Given the description of an element on the screen output the (x, y) to click on. 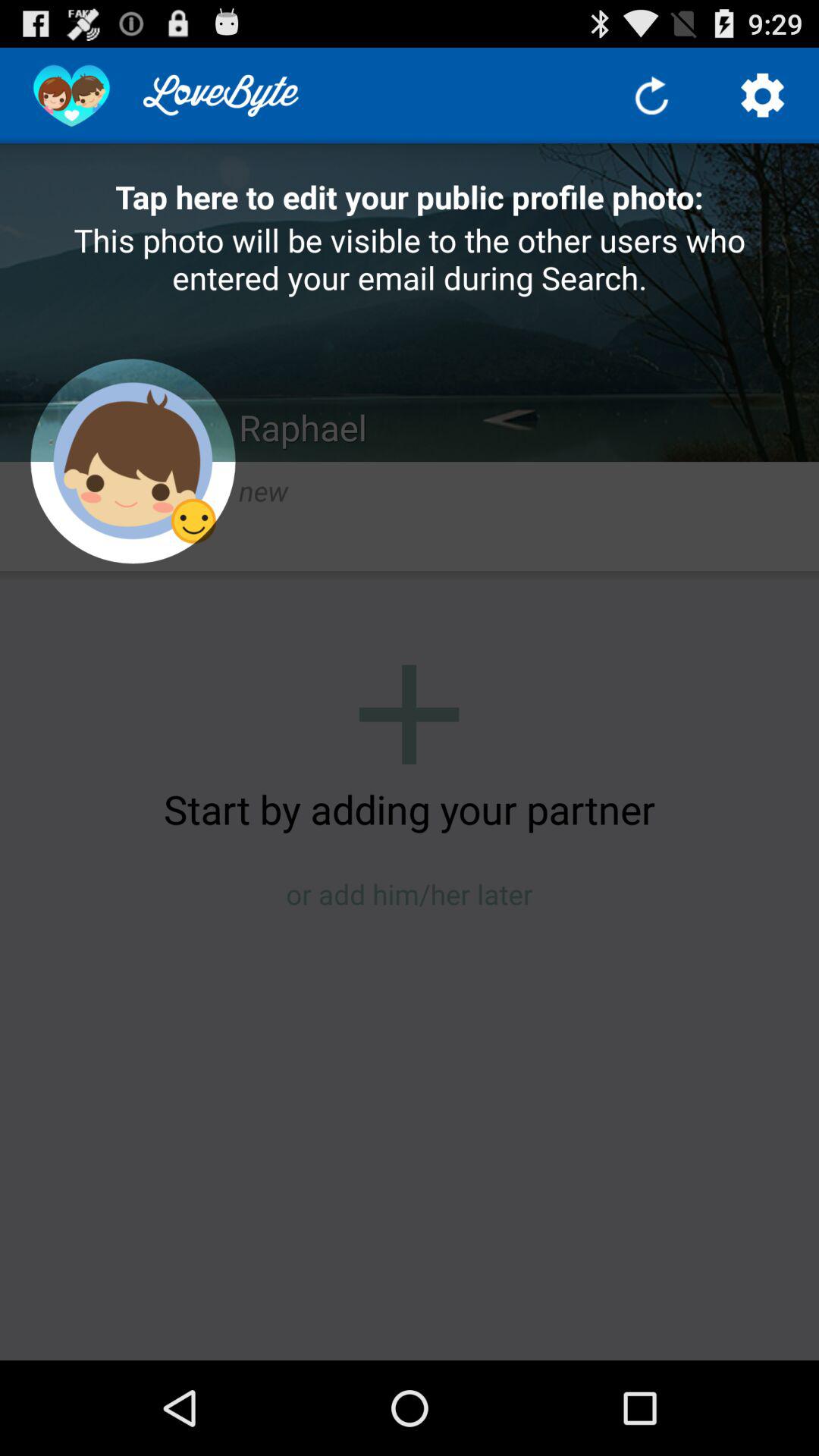
press the icon above the or add him app (409, 808)
